Given the description of an element on the screen output the (x, y) to click on. 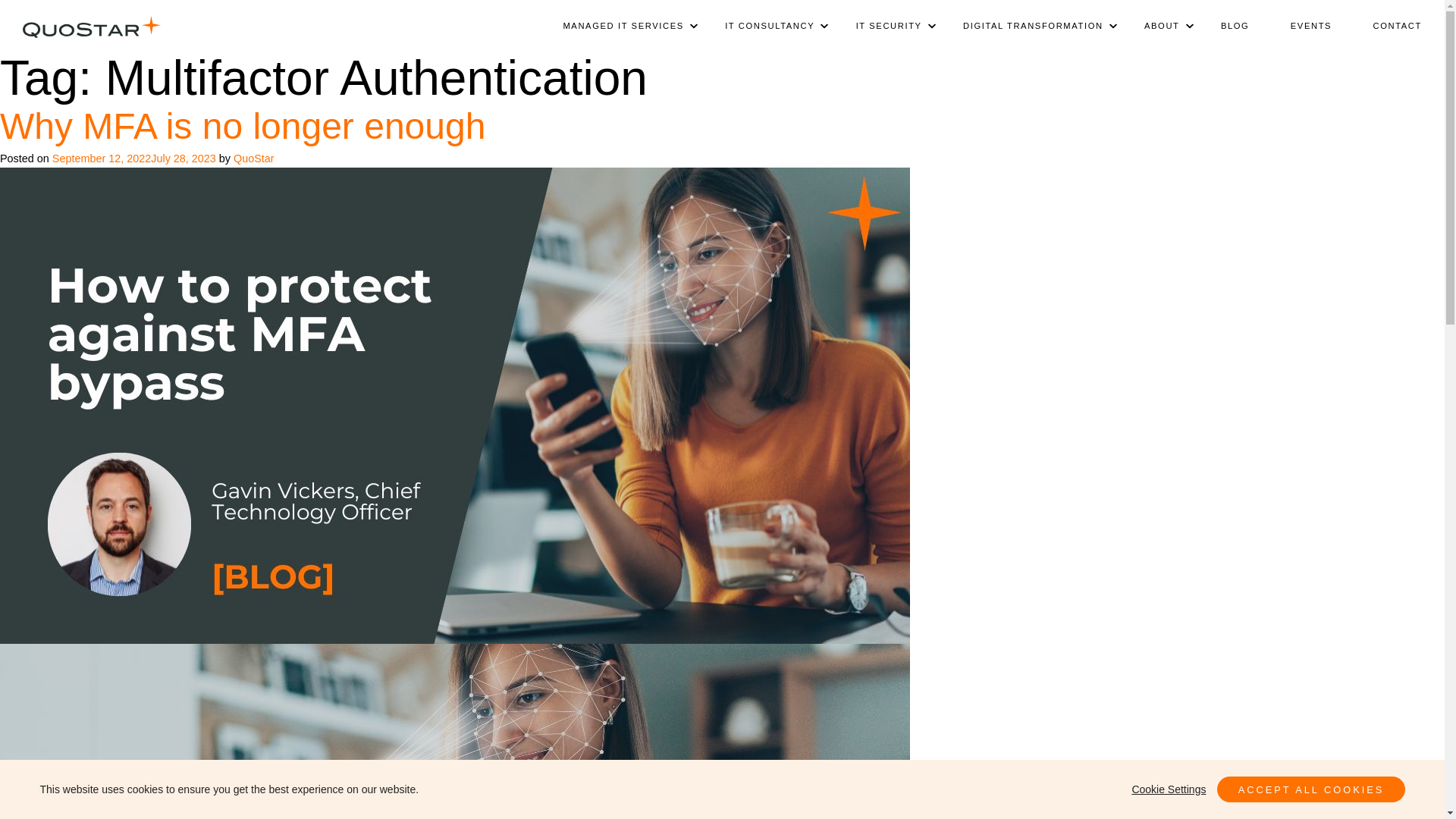
IT SECURITY (888, 25)
IT CONSULTANCY (769, 25)
ABOUT (1161, 25)
DIGITAL TRANSFORMATION (1033, 25)
Contact (1387, 25)
MANAGED IT SERVICES (622, 25)
Events (1310, 25)
Blog (1234, 25)
IT Security (888, 25)
Managed IT Services (622, 25)
